Given the description of an element on the screen output the (x, y) to click on. 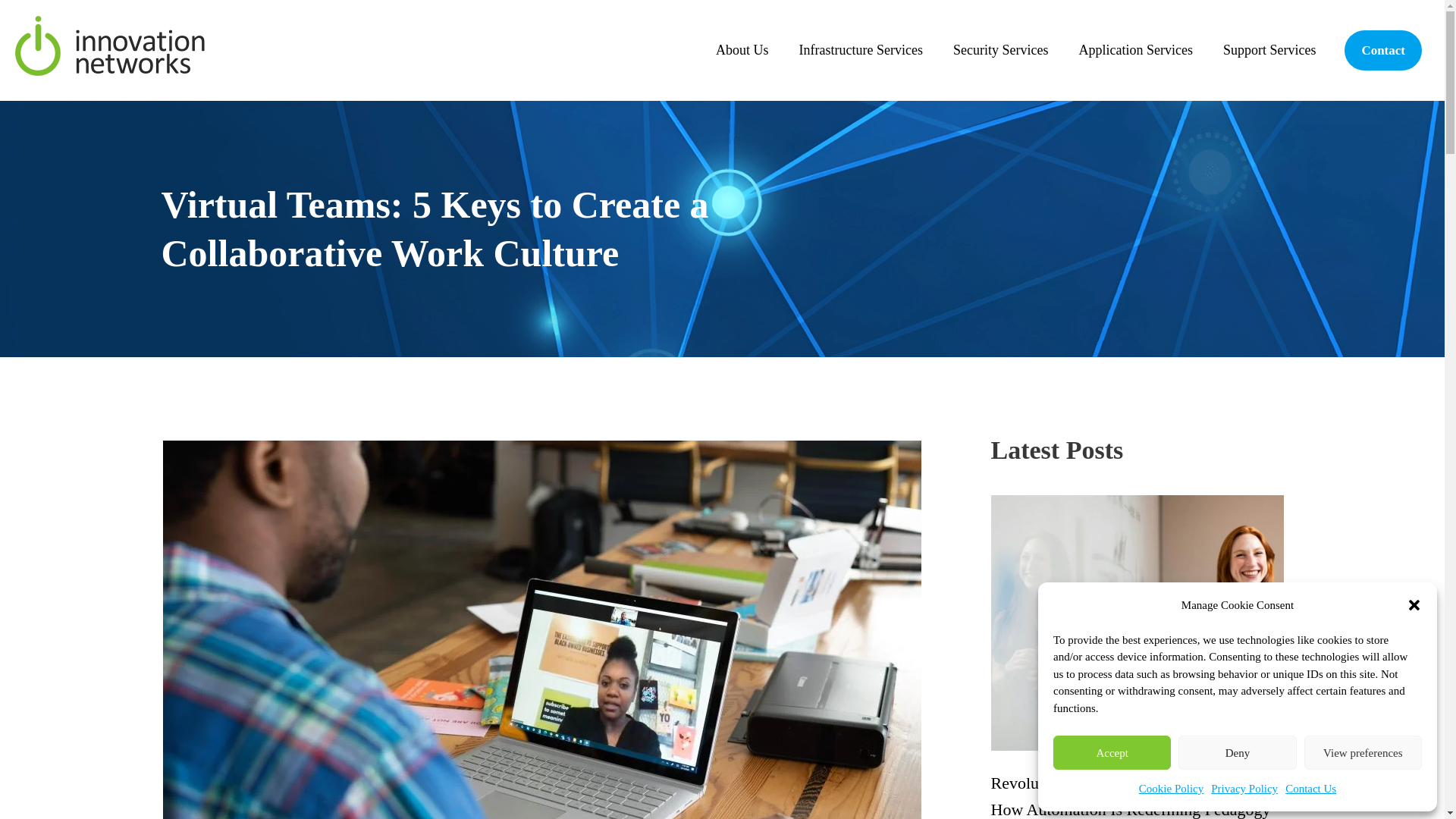
Application Services (1134, 50)
Support Services (1269, 50)
Security Services (999, 50)
Privacy Policy (1244, 788)
Accept (1111, 752)
Contact Us (1310, 788)
Infrastructure Services (860, 50)
Cookie Policy (1171, 788)
Innovation Networks - Managed IT Services in Canada (109, 47)
View preferences (1363, 752)
About Us (742, 50)
Deny (1236, 752)
